Given the description of an element on the screen output the (x, y) to click on. 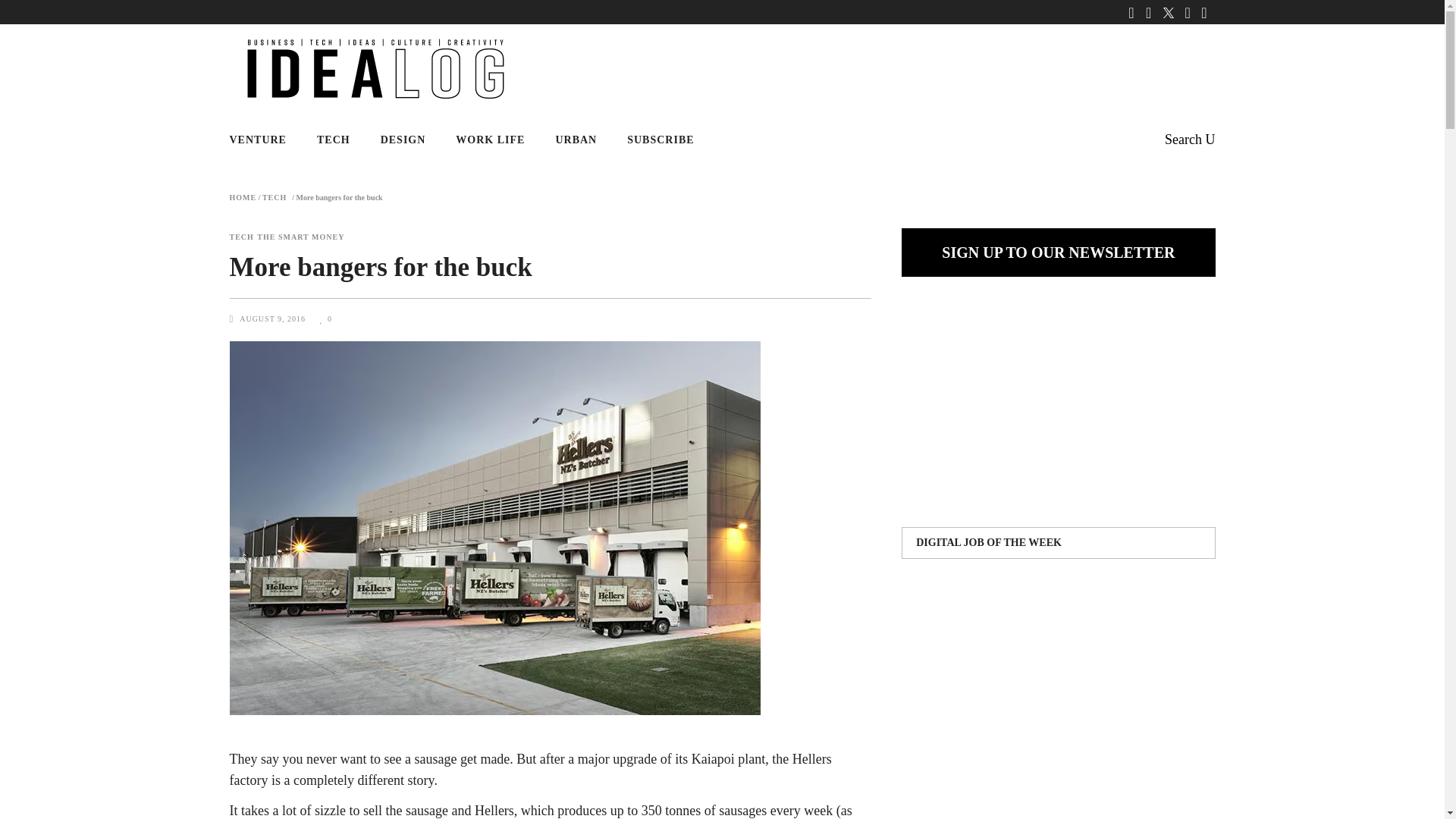
THE SMART MONEY (300, 236)
TECH (240, 236)
TECH (274, 197)
URBAN (575, 139)
DESIGN (403, 139)
TECH (333, 139)
AUGUST 9, 2016 (273, 318)
WORK LIFE (490, 139)
SUBSCRIBE (660, 139)
HOME (242, 197)
